Given the description of an element on the screen output the (x, y) to click on. 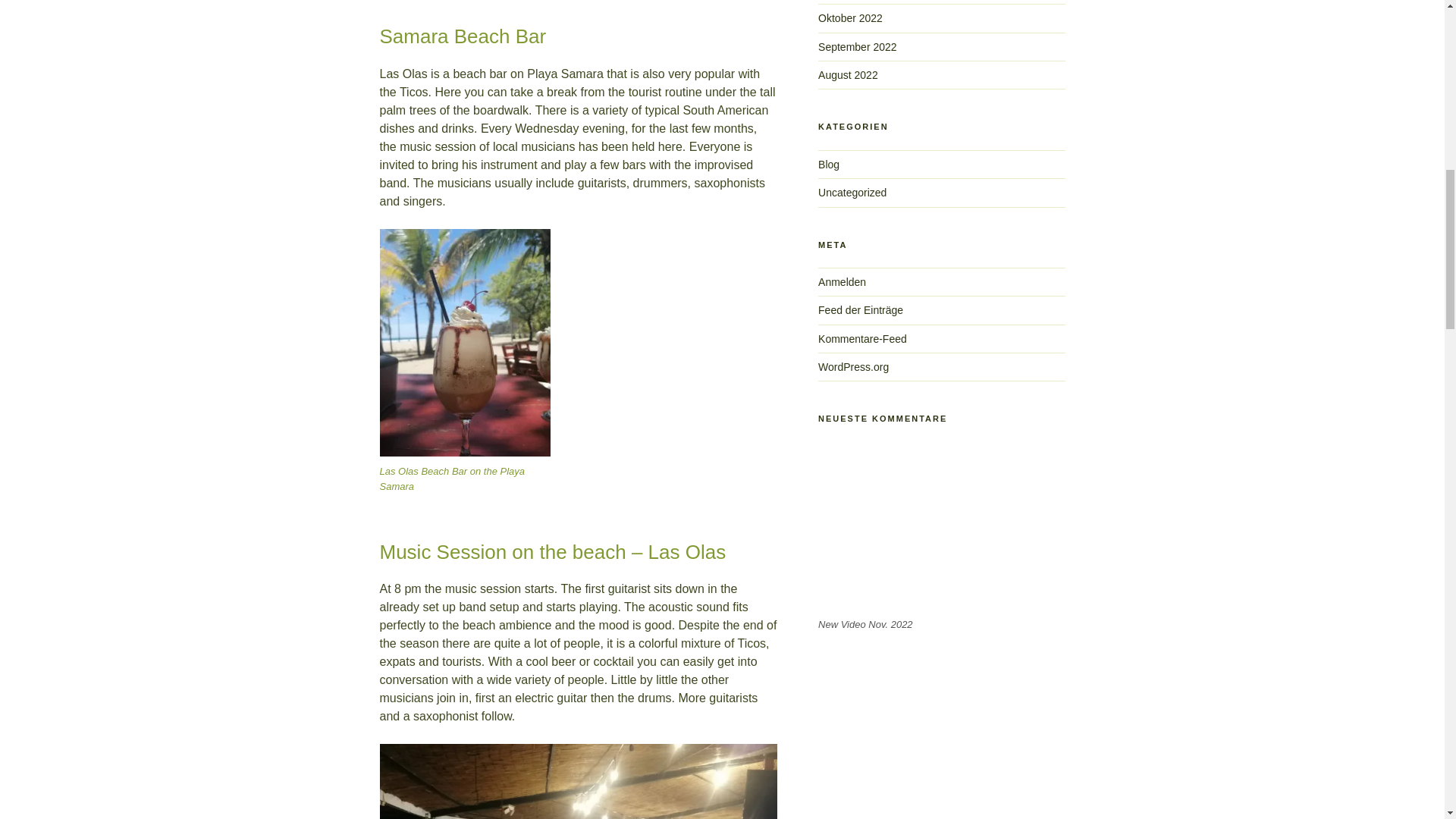
Lodge near Blue zone magic (941, 543)
